Given the description of an element on the screen output the (x, y) to click on. 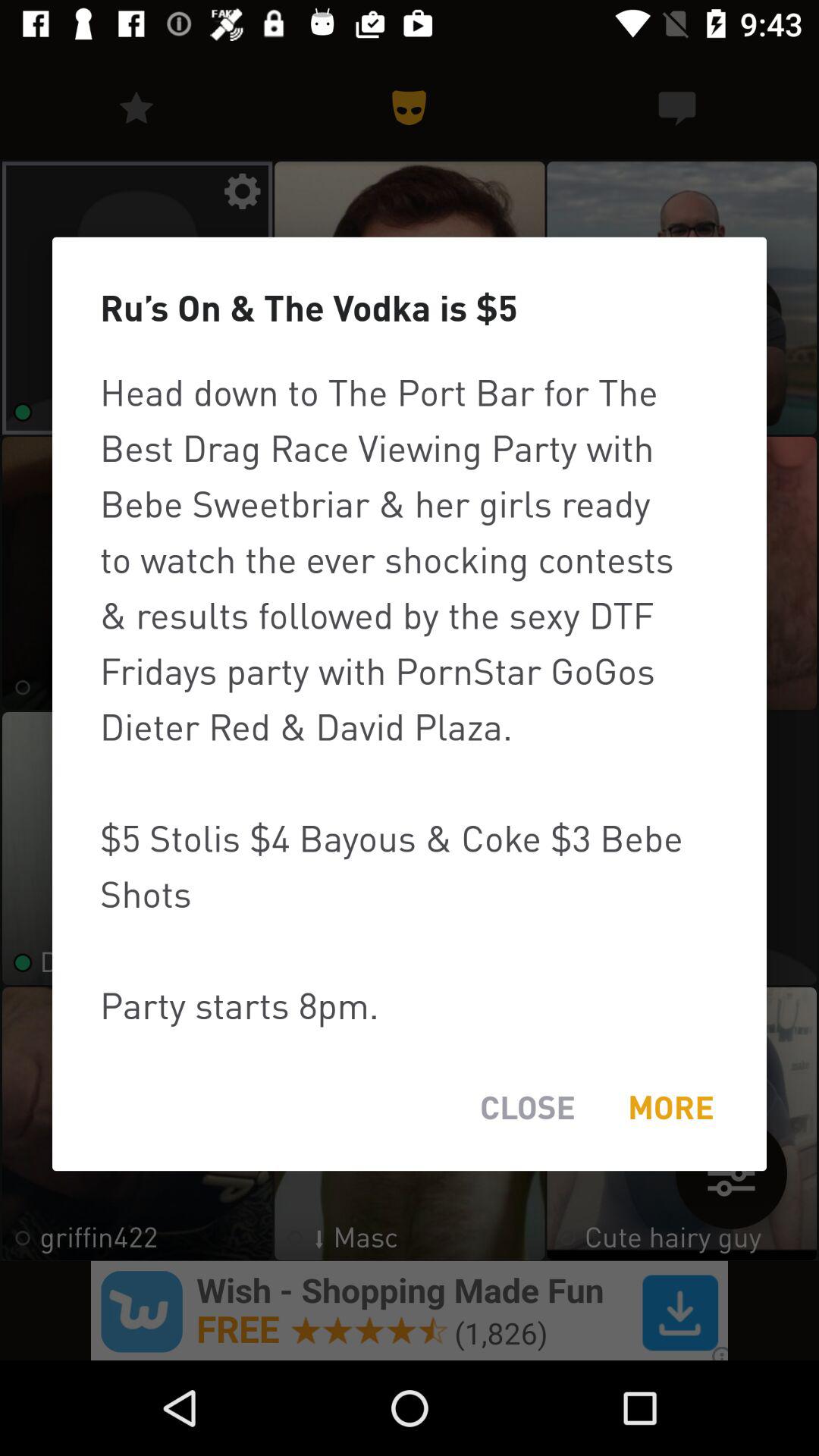
launch more (670, 1107)
